Given the description of an element on the screen output the (x, y) to click on. 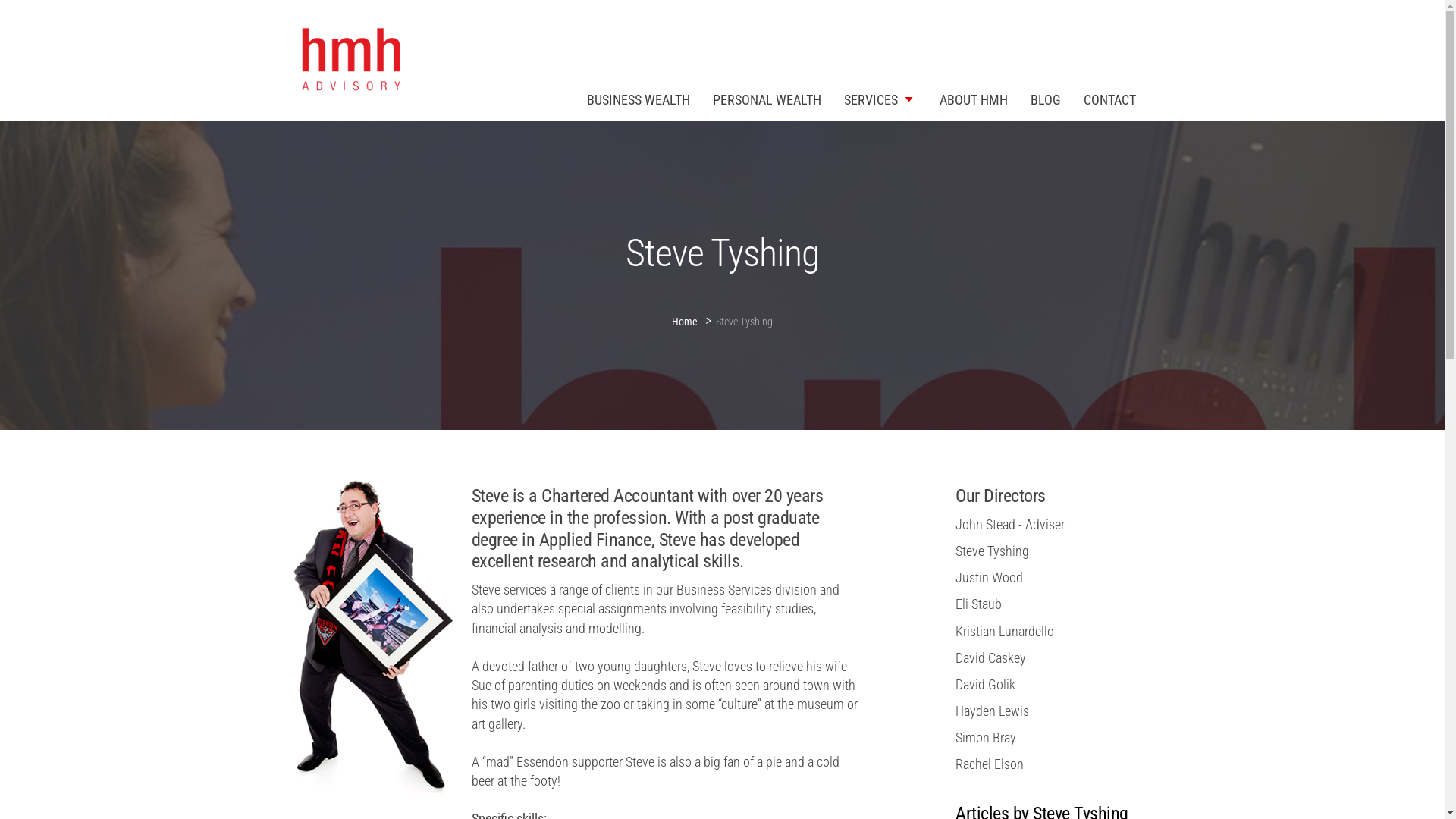
Eli Staub Element type: text (978, 603)
PERSONAL WEALTH Element type: text (765, 98)
Home Element type: text (688, 318)
SERVICES Element type: text (880, 98)
hmh Advisory Element type: text (348, 60)
David Golik Element type: text (985, 684)
David Caskey Element type: text (990, 657)
Simon Bray Element type: text (985, 737)
John Stead - Adviser Element type: text (1009, 524)
Justin Wood Element type: text (988, 577)
BLOG Element type: text (1045, 98)
BUSINESS WEALTH Element type: text (637, 98)
Kristian Lunardello Element type: text (1004, 631)
Hayden Lewis Element type: text (992, 710)
Rachel Elson Element type: text (989, 763)
ABOUT HMH Element type: text (973, 98)
Steve Tyshing Element type: text (992, 550)
CONTACT Element type: text (1109, 98)
